Given the description of an element on the screen output the (x, y) to click on. 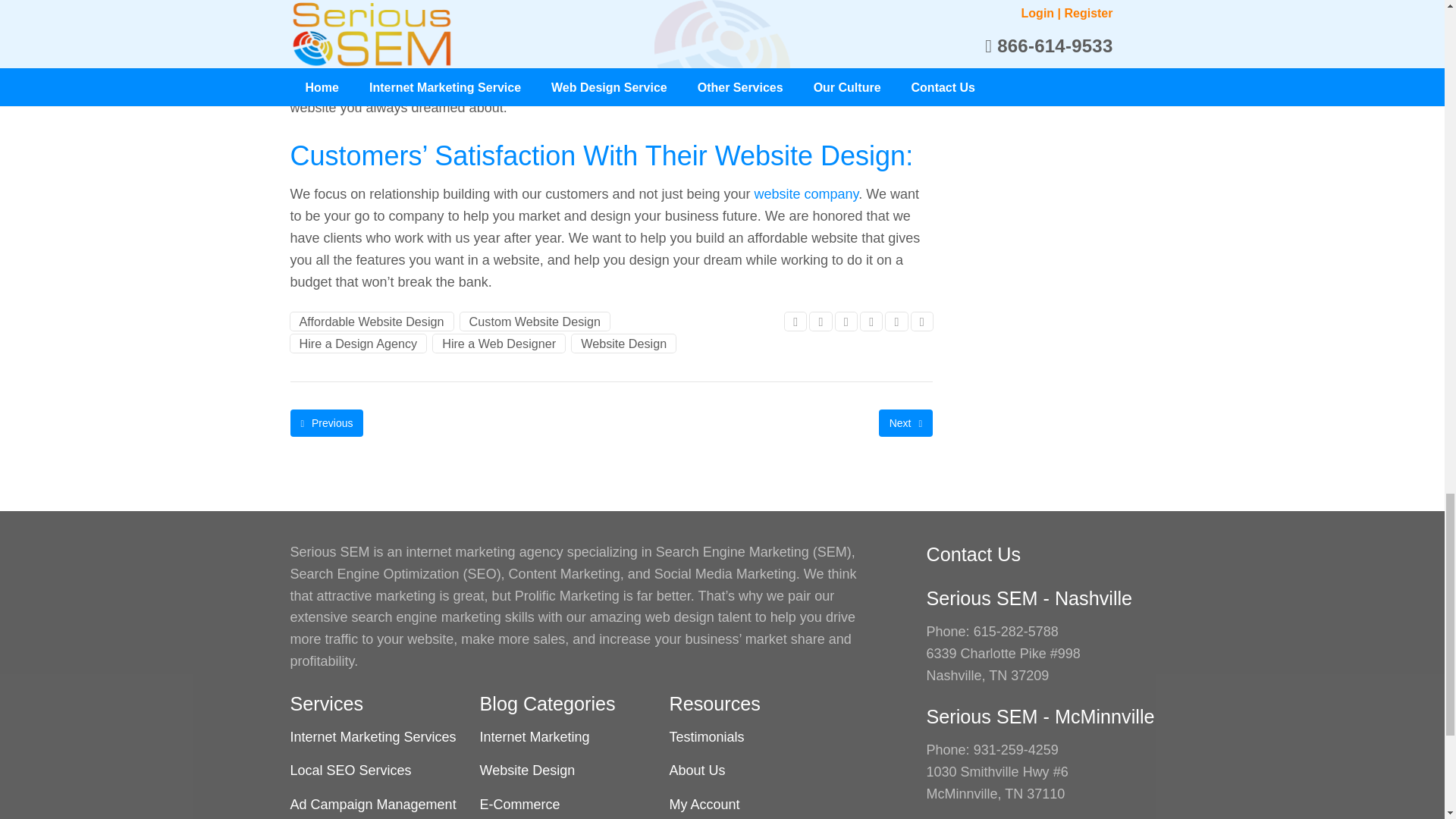
Affordable Website Design (370, 321)
Custom Website Design (535, 321)
Next (906, 422)
Hire a Web Designer (498, 343)
Hire a Design Agency (357, 343)
Previous (325, 422)
about website design (806, 193)
Website Design (623, 343)
website company (806, 193)
